Given the description of an element on the screen output the (x, y) to click on. 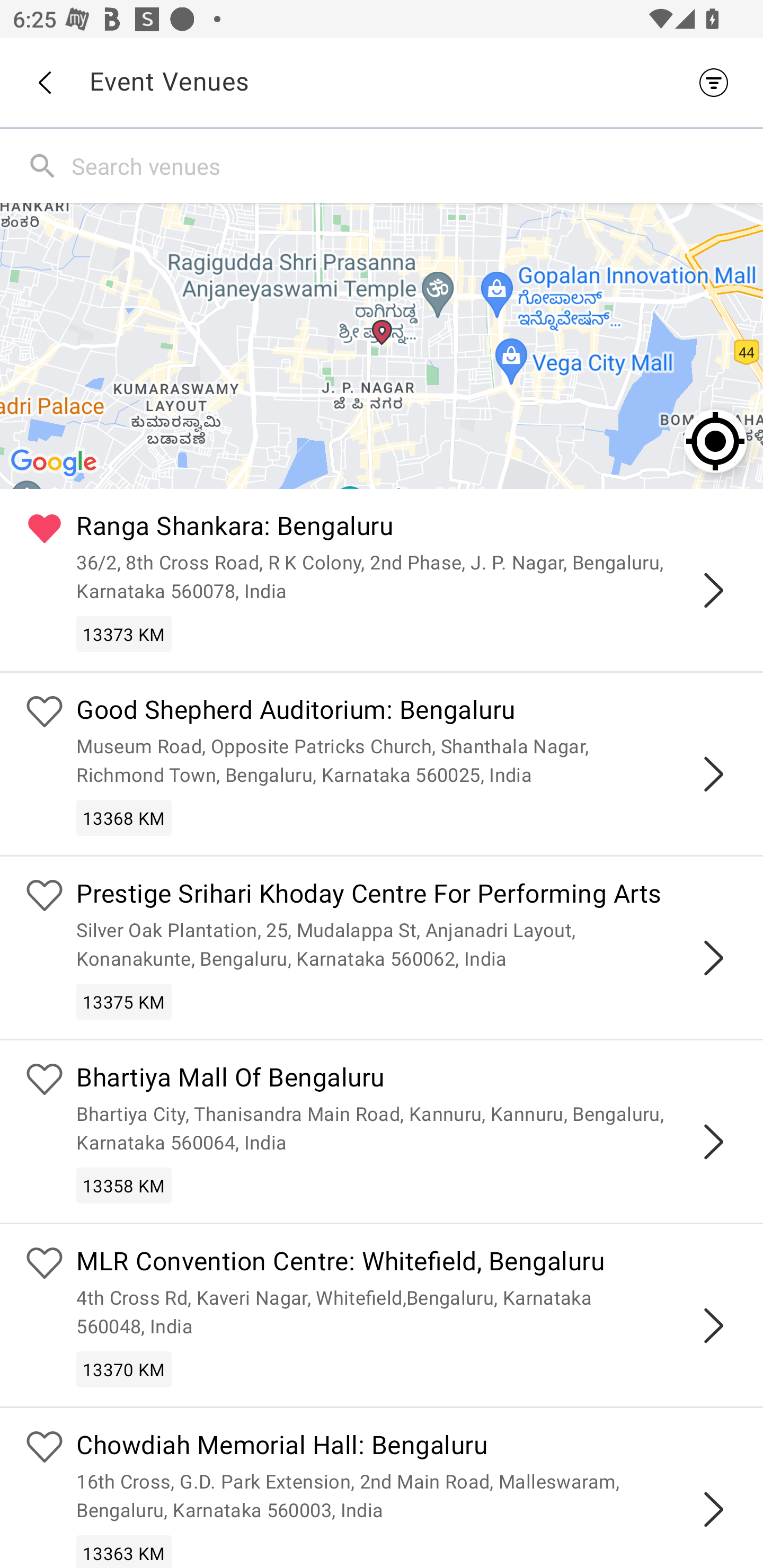
Back Event Venues Filter (381, 82)
Filter (718, 82)
Back (44, 82)
Search venues (413, 165)
Google Map Ranga Shankara: Bengaluru (381, 345)
Ranga Shankara: Bengaluru (406, 528)
 (713, 590)
13373 KM (123, 634)
Good Shepherd Auditorium: Bengaluru (406, 711)
 (713, 773)
13368 KM (123, 817)
Prestige Srihari Khoday Centre For Performing Arts (406, 894)
 (713, 957)
13375 KM (123, 1001)
Bhartiya Mall Of Bengaluru (406, 1079)
 (713, 1141)
13358 KM (123, 1186)
MLR Convention Centre: Whitefield, Bengaluru (406, 1263)
 (713, 1325)
13370 KM (123, 1369)
Chowdiah Memorial Hall: Bengaluru (406, 1446)
 (713, 1508)
13363 KM (123, 1551)
